Given the description of an element on the screen output the (x, y) to click on. 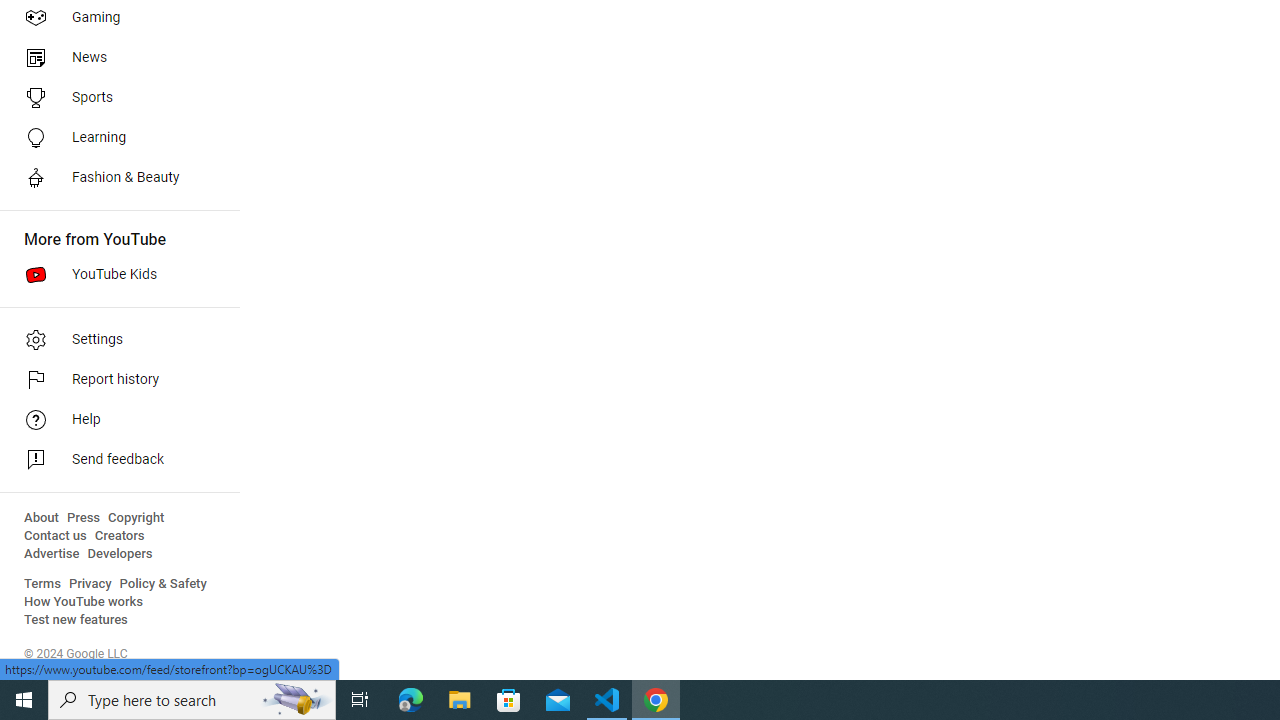
Creators (118, 536)
How YouTube works (83, 602)
Policy & Safety (163, 584)
Report history (113, 380)
Fashion & Beauty (113, 177)
About (41, 518)
